Given the description of an element on the screen output the (x, y) to click on. 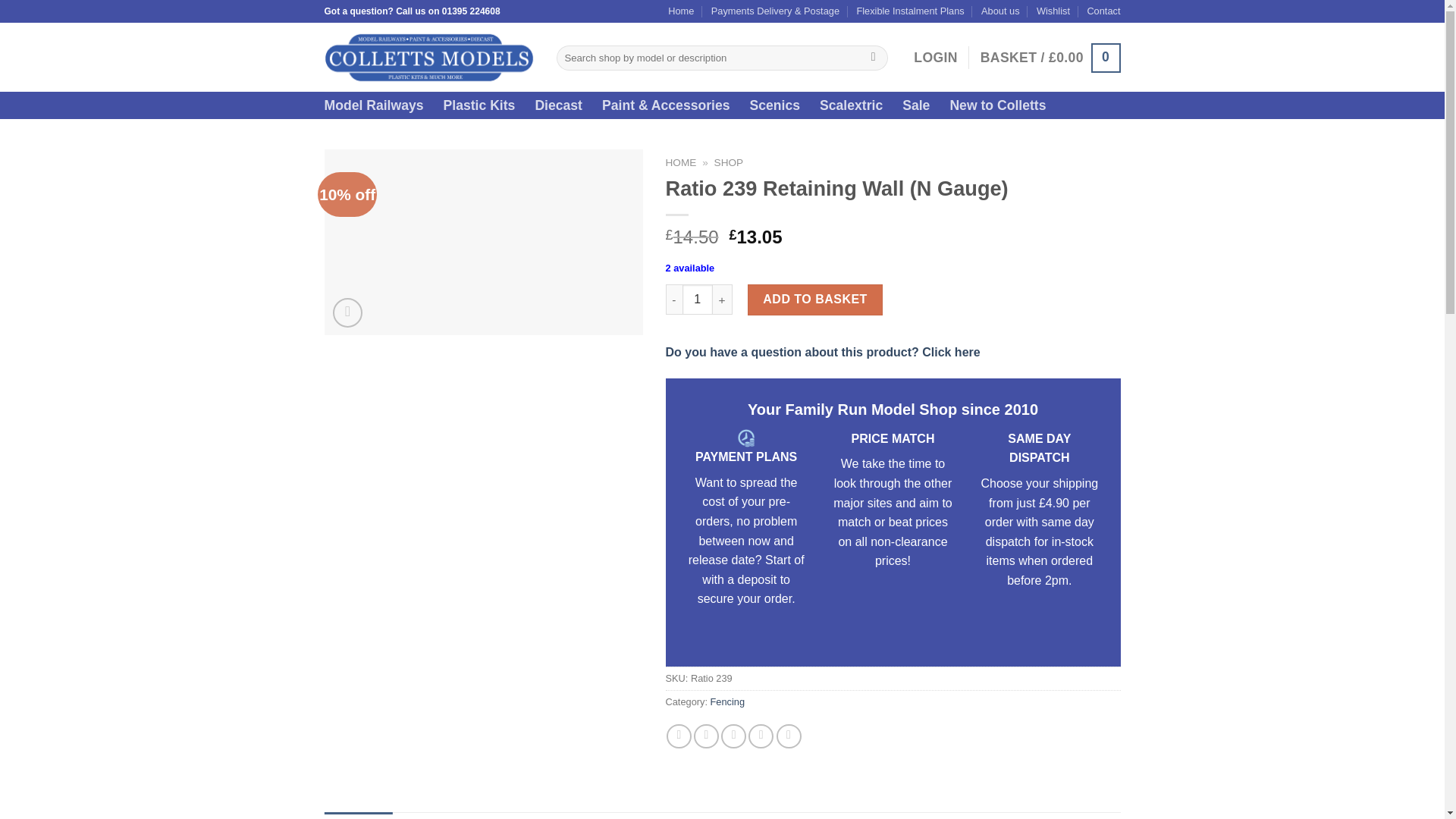
Home (681, 11)
ADD TO BASKET (815, 299)
Wishlist (1053, 11)
Zoom (347, 312)
Pin on Pinterest (760, 735)
LOGIN (935, 57)
SHOP (729, 162)
Do you have a question about this product? Click here (822, 351)
Search (872, 58)
Fencing (727, 701)
Basket (1050, 57)
Scalextric (850, 104)
Colletts Models (429, 56)
Share on Facebook (678, 735)
